Given the description of an element on the screen output the (x, y) to click on. 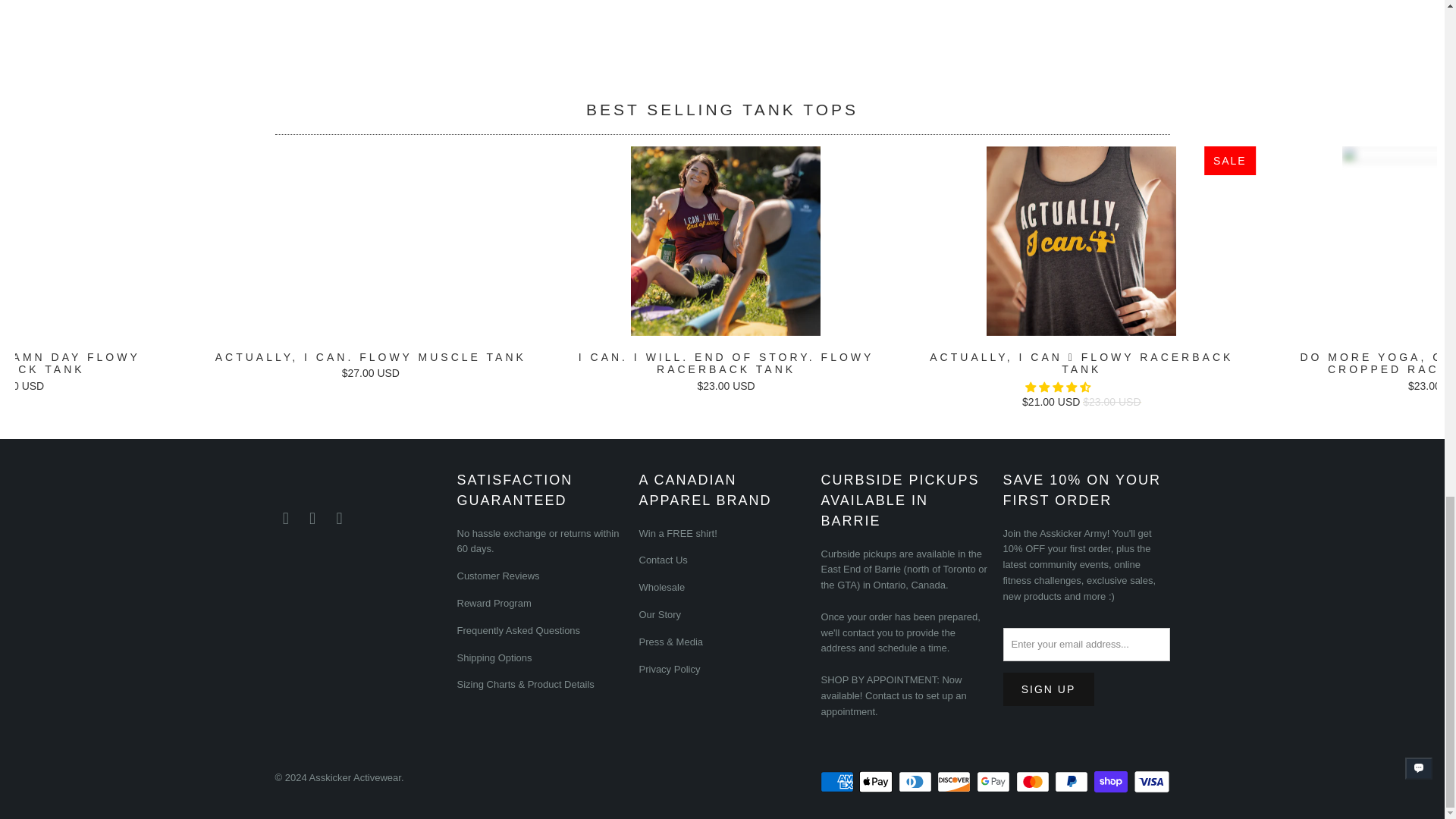
Asskicker Activewear on Instagram (312, 518)
Discover (955, 781)
Mastercard (1034, 781)
Asskicker Activewear on Facebook (286, 518)
Google Pay (994, 781)
Contact Us (888, 695)
American Express (839, 781)
Diners Club (916, 781)
Sign Up (1048, 689)
Visa (1150, 781)
